Given the description of an element on the screen output the (x, y) to click on. 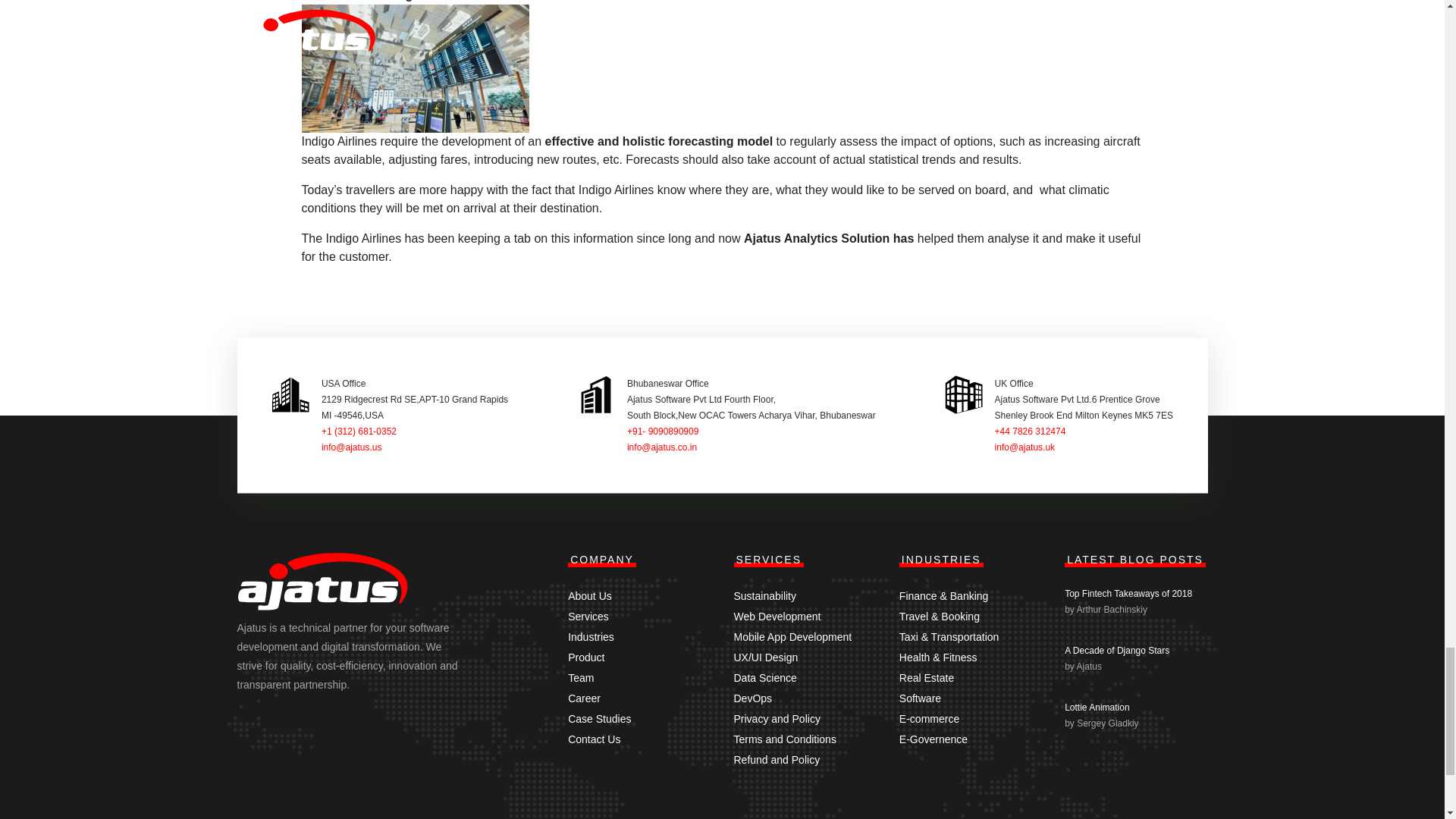
Team (580, 677)
COMPANY (601, 559)
Ajatus Software (322, 585)
Services (587, 616)
Real Estate (926, 677)
Sustainability (764, 595)
Career (583, 698)
INDUSTRIES (941, 559)
Refund and Policy (777, 759)
Product (585, 657)
Mobile App Development (792, 636)
Contact Us (593, 739)
Web Development (777, 616)
Case Studies (598, 718)
Privacy and Policy (777, 718)
